Given the description of an element on the screen output the (x, y) to click on. 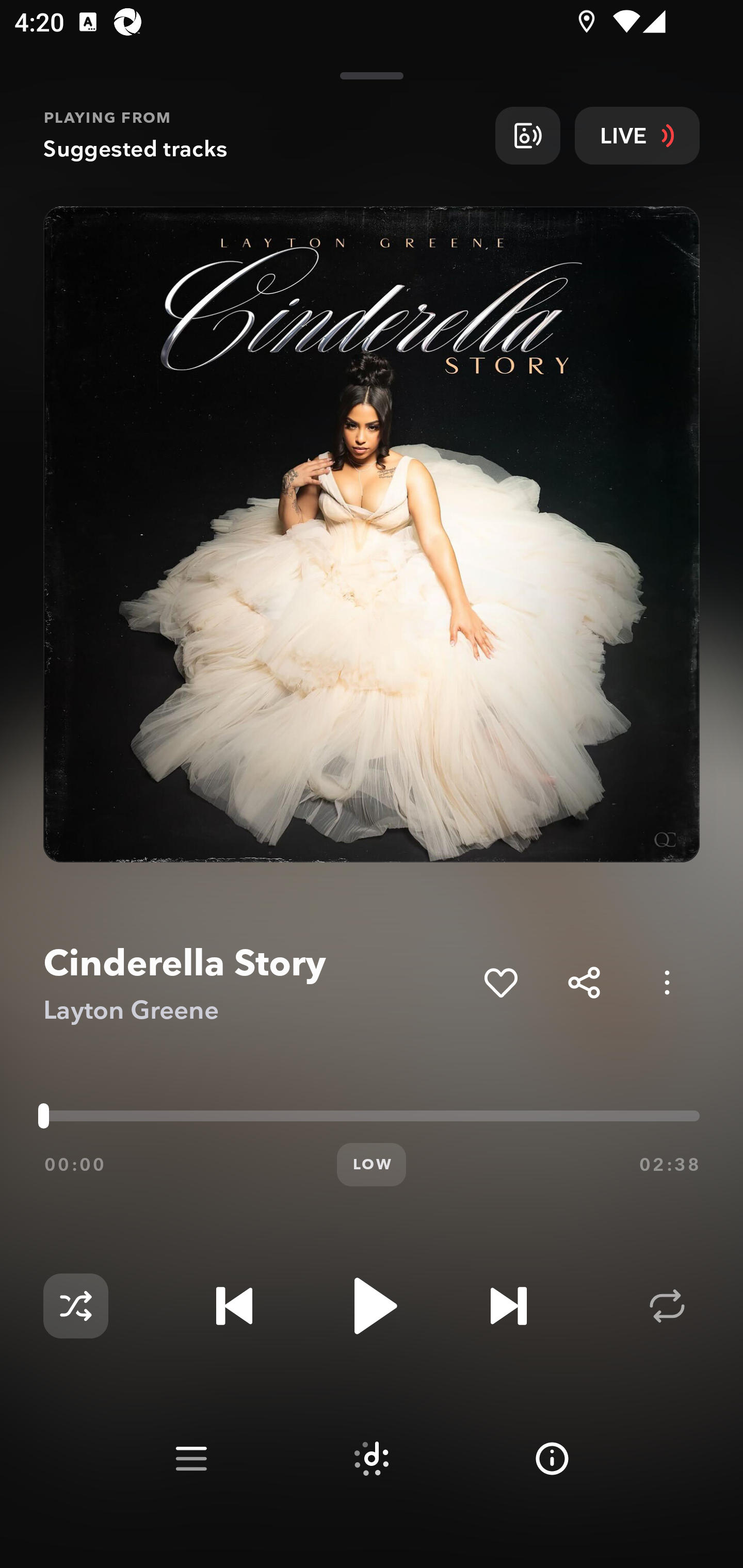
Broadcast (527, 135)
LIVE (637, 135)
PLAYING FROM Suggested tracks (261, 135)
Cinderella Story Layton Greene (255, 983)
Add to My Collection (500, 982)
Share (583, 982)
Options (666, 982)
LOW (371, 1164)
Play (371, 1306)
Previous (234, 1306)
Next (508, 1306)
Shuffle enabled (75, 1306)
Repeat Off (666, 1306)
Play queue (191, 1458)
Suggested tracks (371, 1458)
Info (551, 1458)
